Given the description of an element on the screen output the (x, y) to click on. 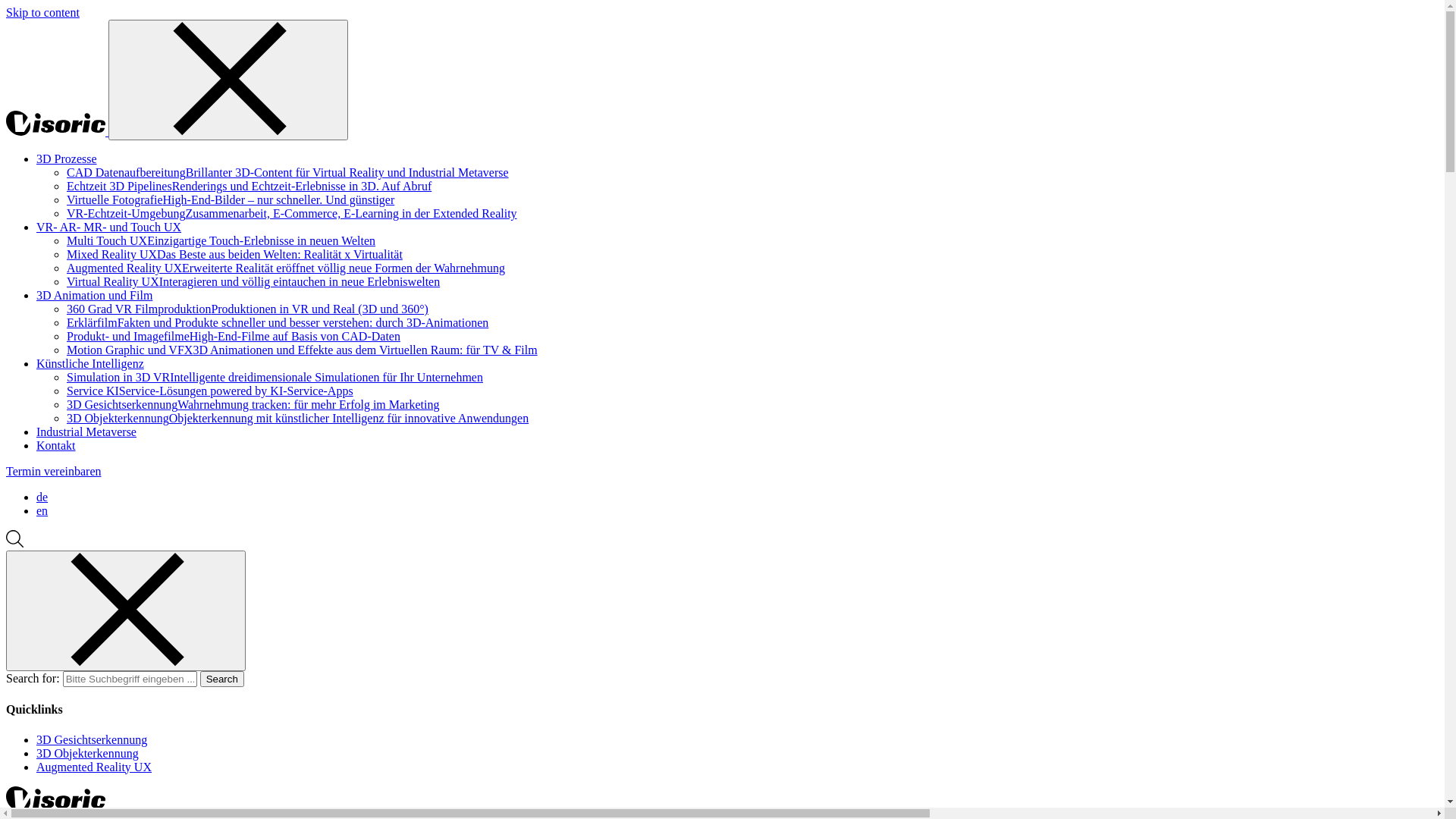
Kontakt Element type: text (55, 445)
Skip to content Element type: text (42, 12)
3D Prozesse Element type: text (66, 158)
Visoric GmbH Element type: hover (57, 131)
Termin vereinbaren Element type: text (53, 470)
Industrial Metaverse Element type: text (86, 431)
Visoric GmbH Element type: hover (55, 806)
de Element type: text (41, 496)
Search Element type: text (222, 679)
3D Gesichtserkennung Element type: text (91, 739)
Augmented Reality UX Element type: text (93, 766)
Multi Touch UXEinzigartige Touch-Erlebnisse in neuen Welten Element type: text (220, 240)
3D Objekterkennung Element type: text (87, 752)
VR- AR- MR- und Touch UX Element type: text (108, 226)
3D Animation und Film Element type: text (94, 294)
en Element type: text (41, 510)
